Given the description of an element on the screen output the (x, y) to click on. 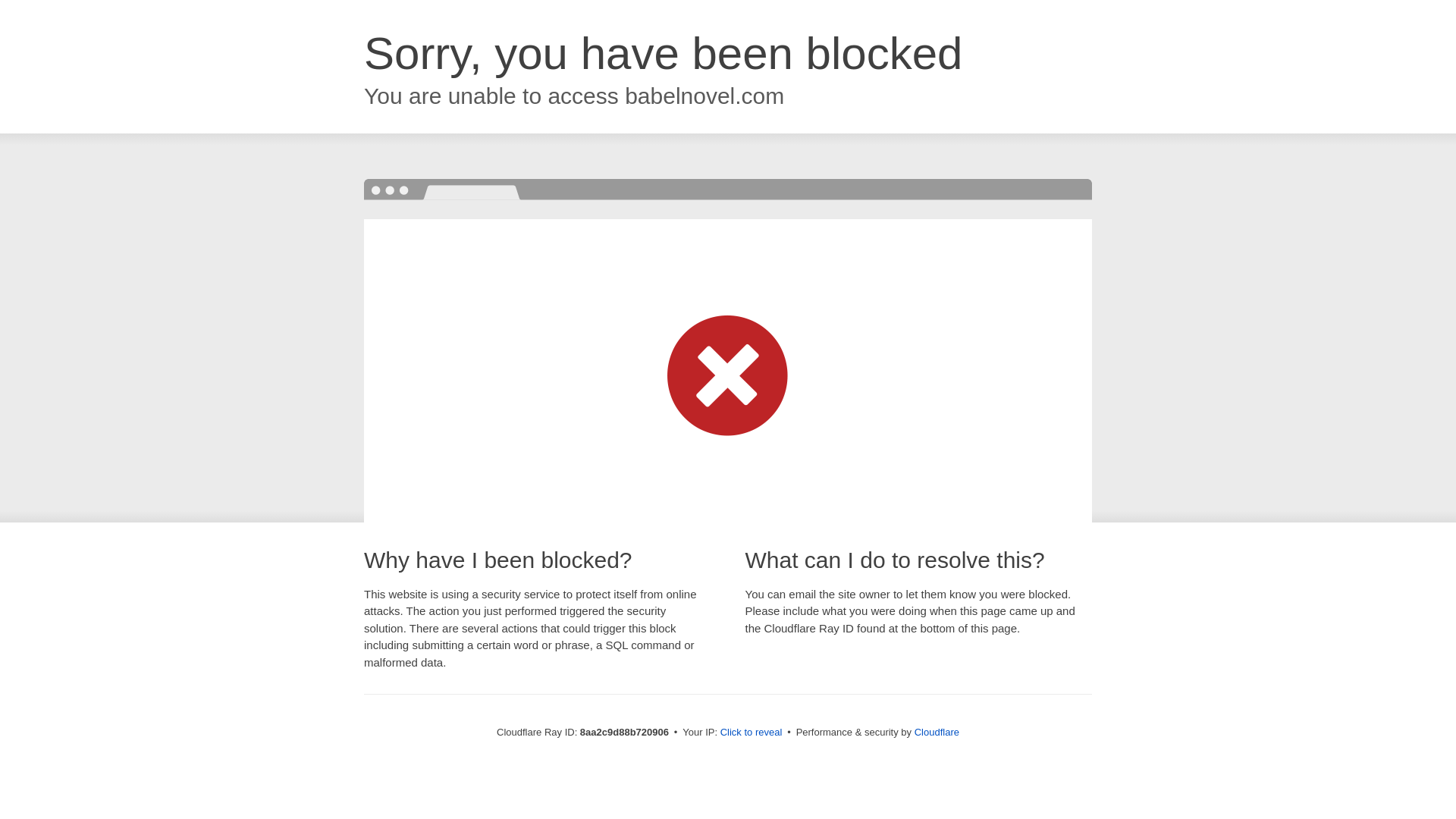
Cloudflare (936, 731)
Click to reveal (751, 732)
